Given the description of an element on the screen output the (x, y) to click on. 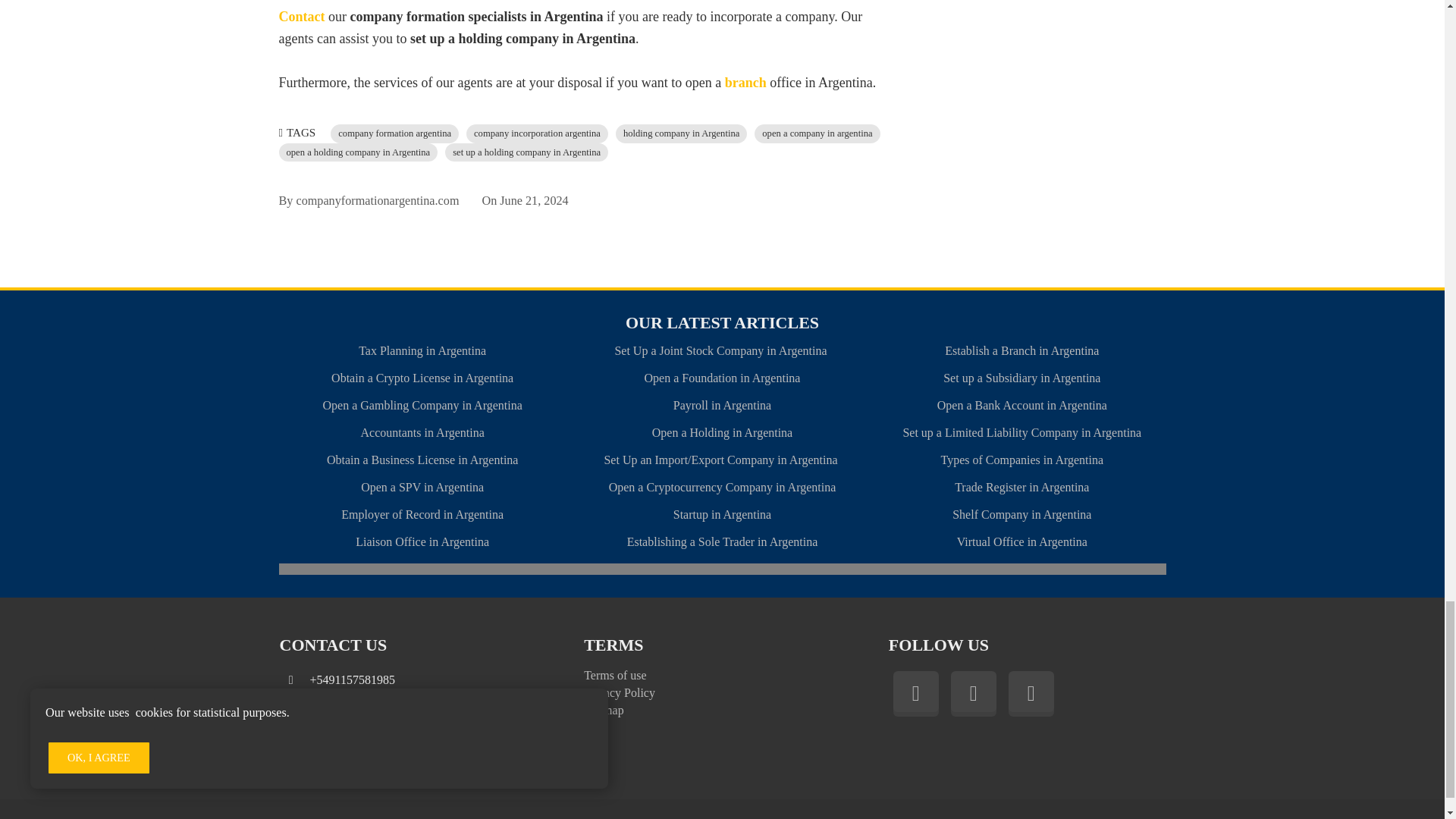
holding company in Argentina (680, 133)
set up a holding company in Argentina (526, 152)
company formation argentina (394, 133)
open a company in argentina (816, 133)
branch (746, 82)
company incorporation argentina (536, 133)
open a holding company in Argentina (358, 152)
Contact (301, 16)
